Given the description of an element on the screen output the (x, y) to click on. 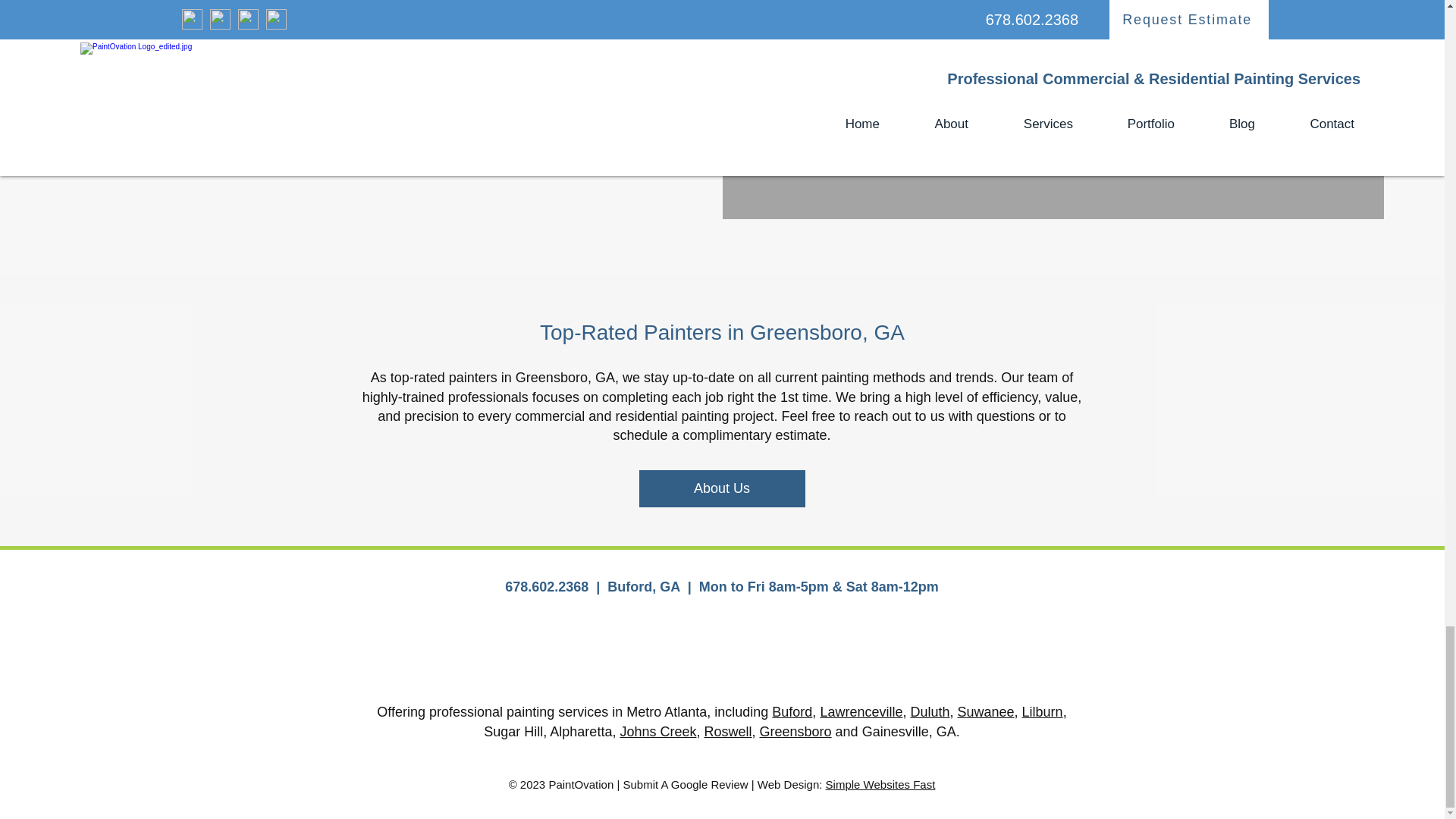
Simple Websites Fast (880, 784)
About Us (722, 488)
Greensboro (795, 731)
Lawrenceville (860, 711)
Lilburn (1042, 711)
Duluth (929, 711)
contact us (512, 22)
Submit A Google Review (685, 784)
Suwanee (984, 711)
Buford (791, 711)
